Given the description of an element on the screen output the (x, y) to click on. 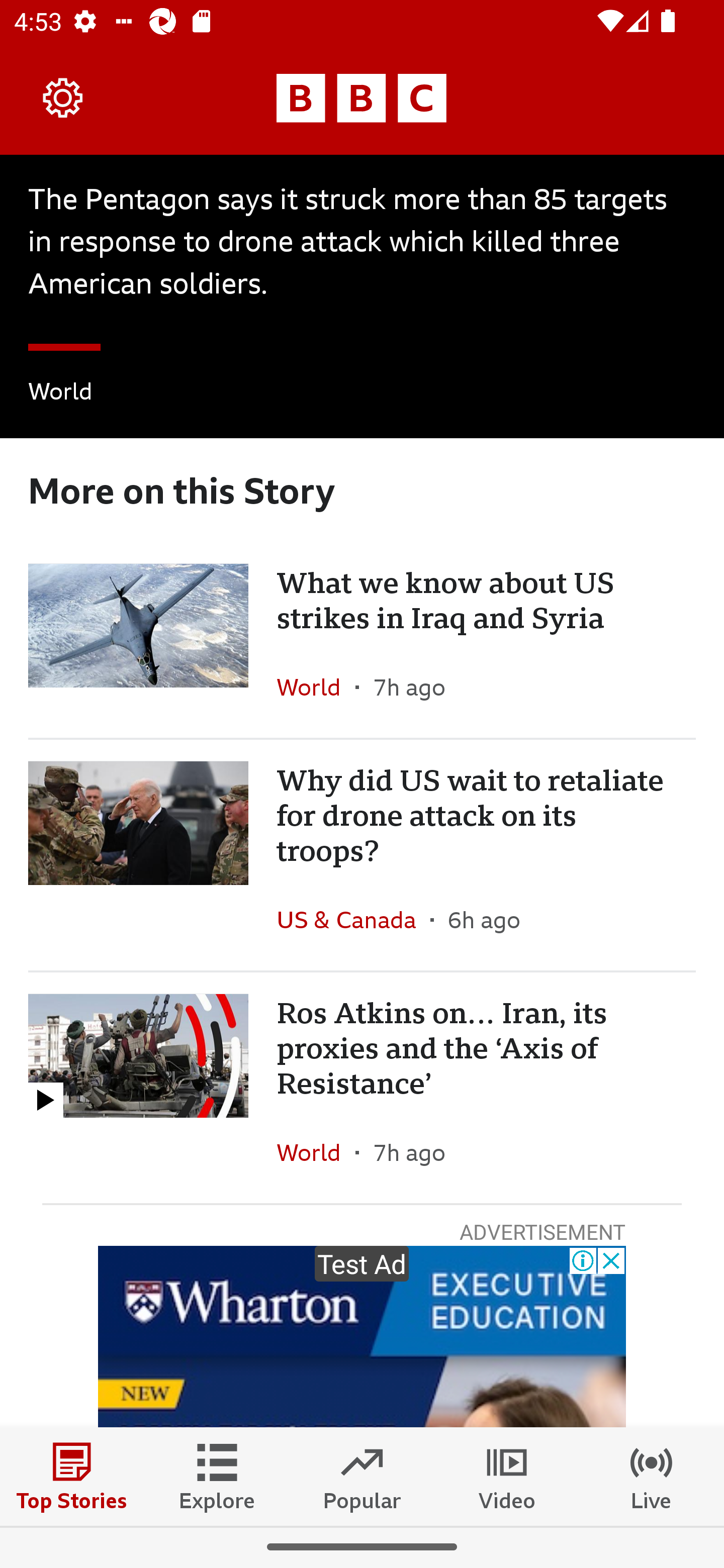
Settings (63, 97)
World In the section World (60, 394)
World In the section World (315, 687)
US & Canada In the section US & Canada (353, 919)
World In the section World (315, 1152)
Advertisement (361, 1336)
Advertisement (361, 1336)
Explore (216, 1475)
Popular (361, 1475)
Video (506, 1475)
Live (651, 1475)
